Given the description of an element on the screen output the (x, y) to click on. 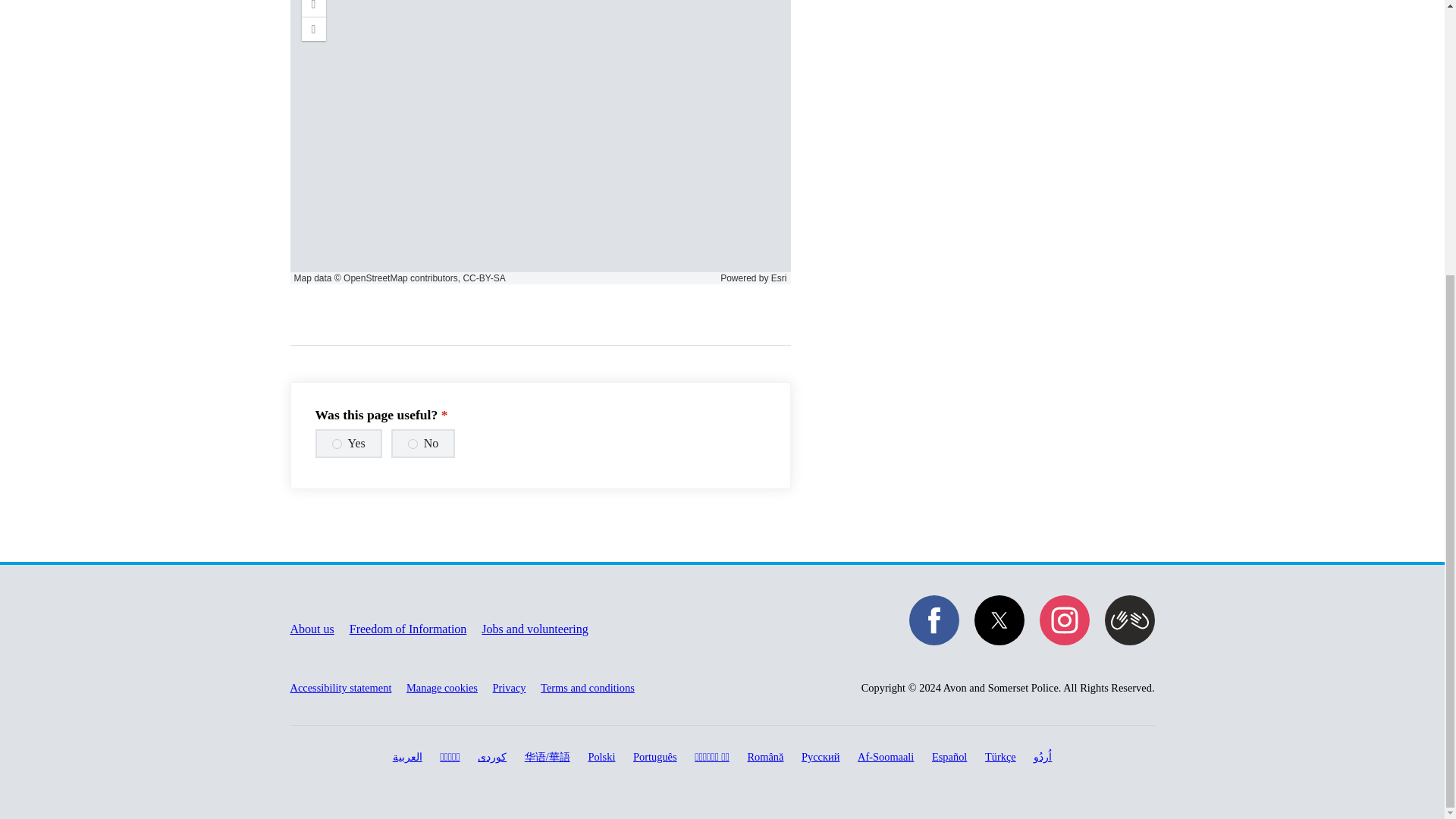
Manage cookies (441, 687)
Terms and conditions (587, 687)
BSL (1128, 620)
Polski (601, 757)
Af-Soomaali (885, 757)
Facebook (933, 620)
Instagram (1064, 620)
Esri (779, 277)
About us (311, 629)
Yes (336, 443)
No (412, 443)
Privacy (509, 687)
Accessibility statement (340, 687)
Freedom of Information (408, 629)
Jobs and volunteering (534, 629)
